Given the description of an element on the screen output the (x, y) to click on. 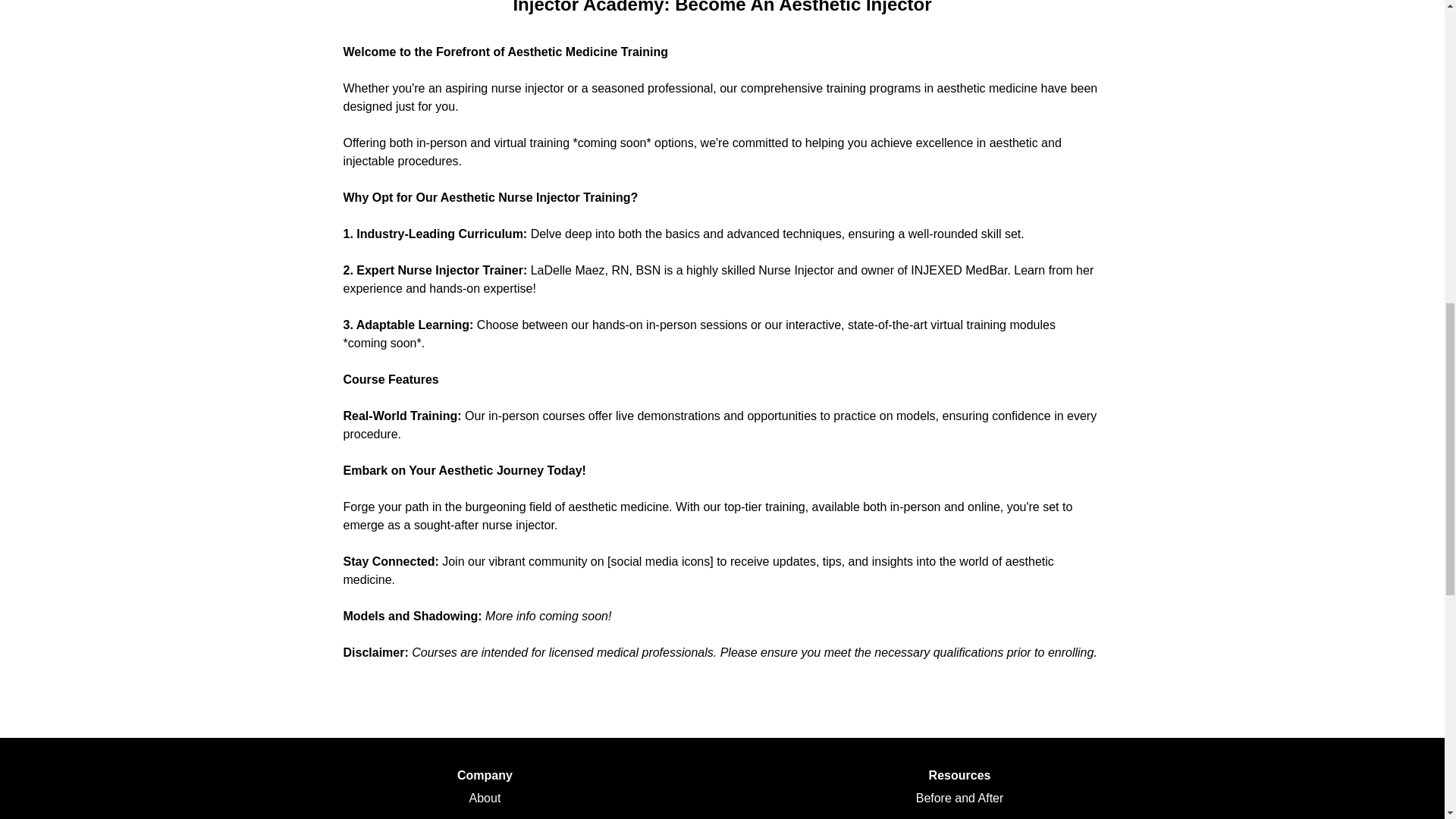
About (484, 797)
Before and After (959, 797)
